Given the description of an element on the screen output the (x, y) to click on. 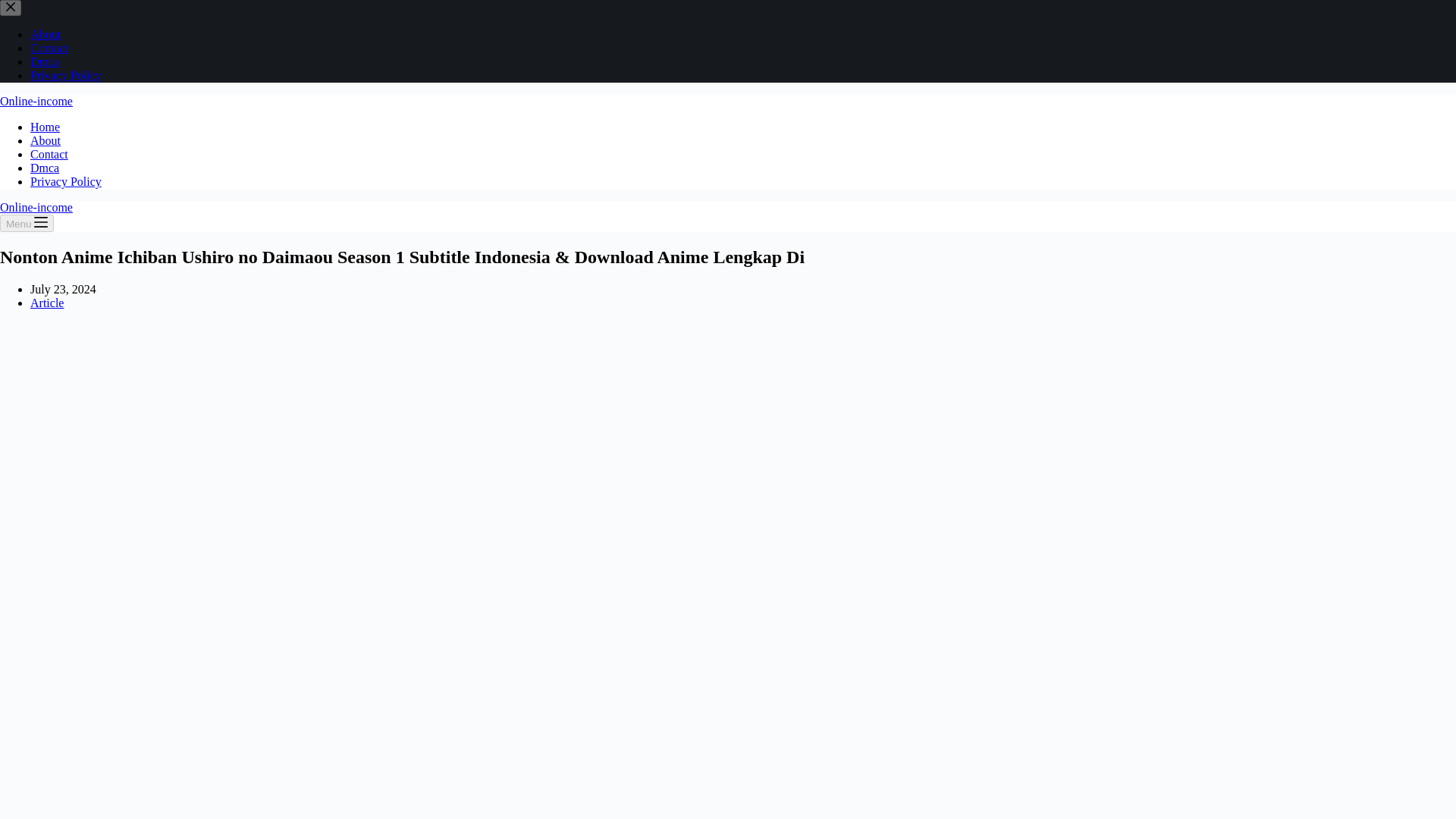
Article (47, 302)
Privacy Policy (65, 181)
Online-income (36, 101)
Home (44, 126)
Contact (49, 47)
Dmca (44, 167)
About (45, 33)
Online-income (36, 206)
Menu (26, 222)
Contact (49, 154)
About (45, 140)
Privacy Policy (65, 74)
Dmca (44, 61)
